Given the description of an element on the screen output the (x, y) to click on. 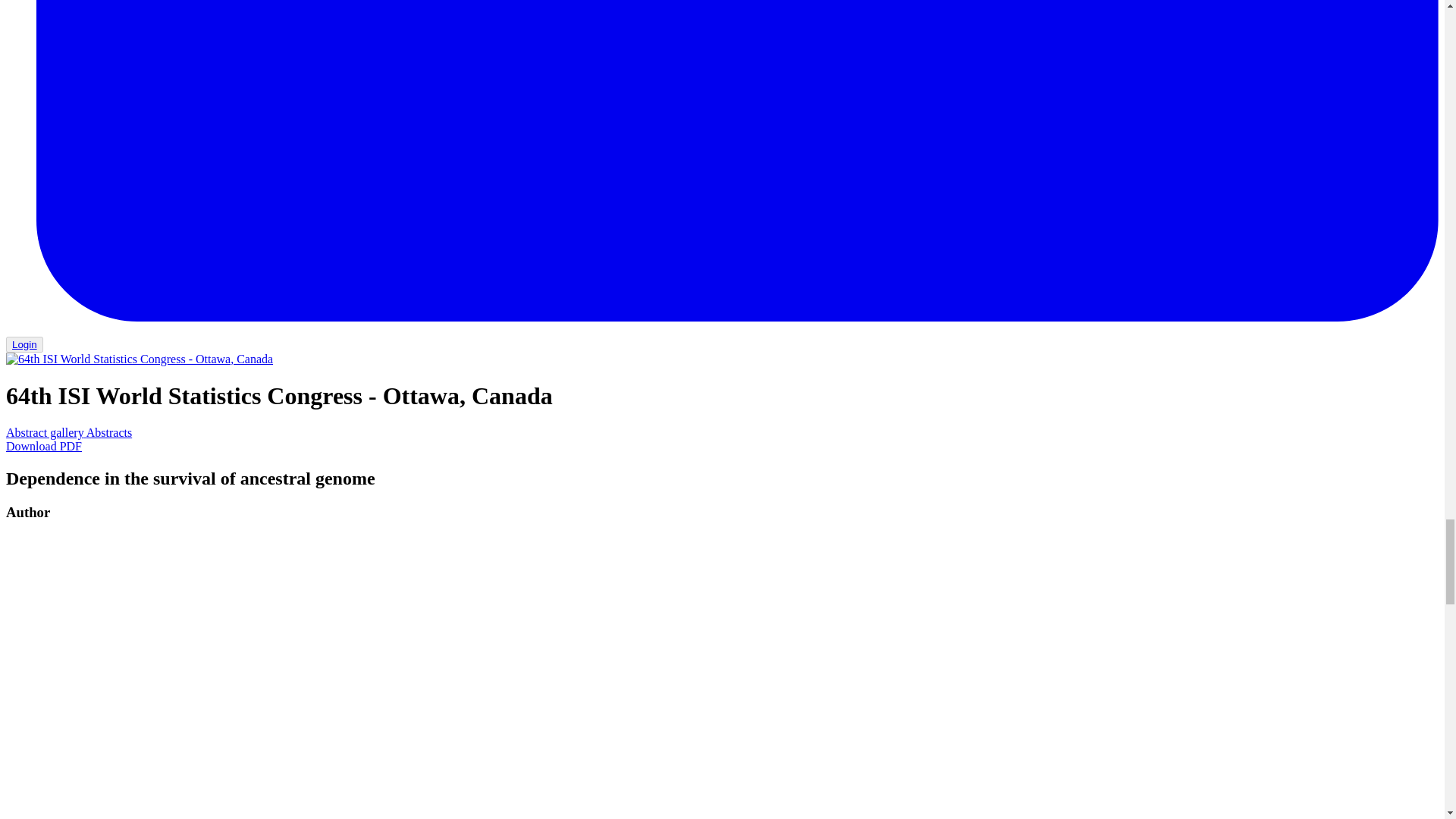
Download PDF (43, 445)
Abstract gallery Abstracts (68, 431)
Login (24, 344)
Login (24, 344)
